Given the description of an element on the screen output the (x, y) to click on. 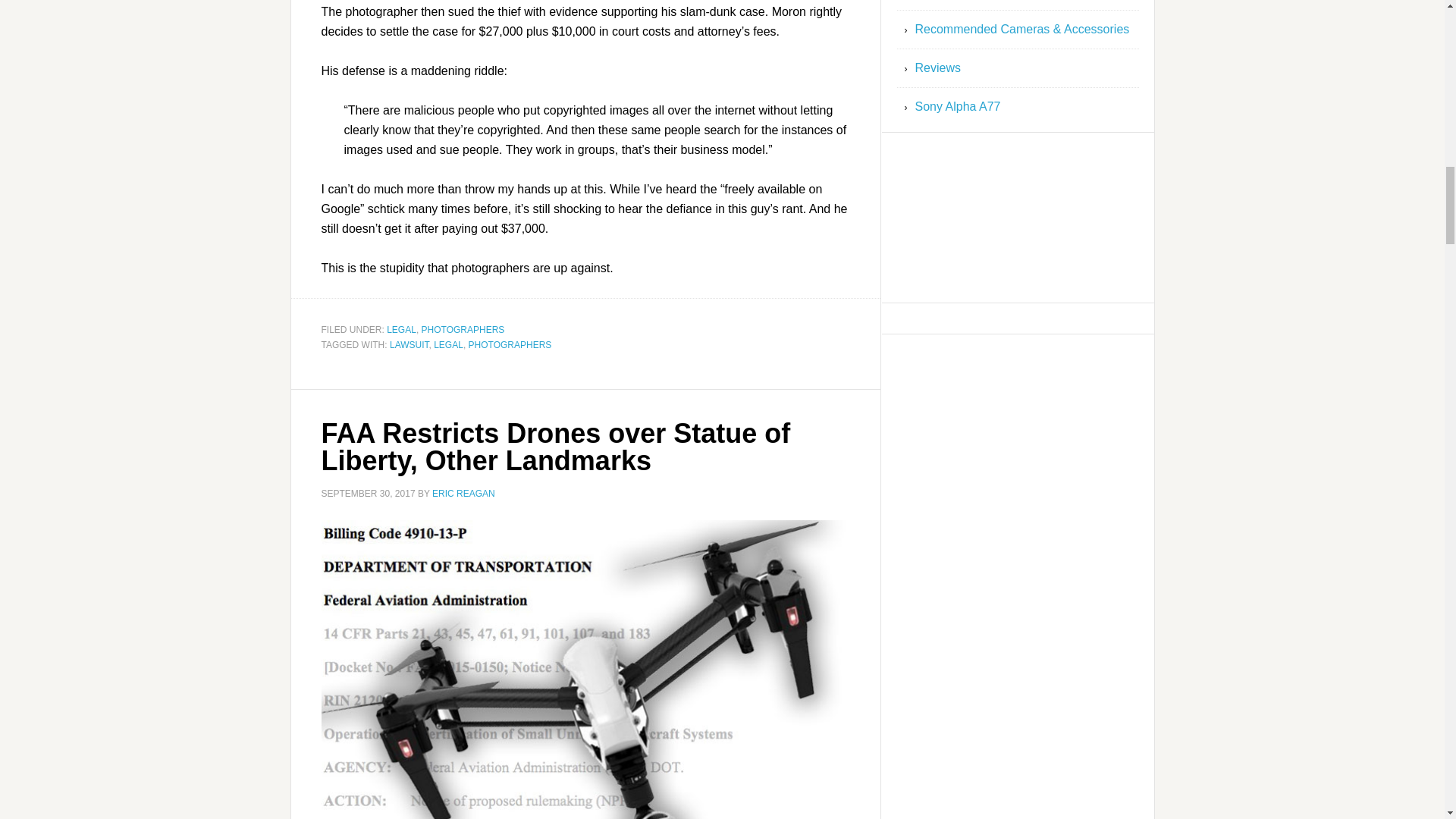
ERIC REAGAN (463, 493)
LEGAL (448, 344)
LAWSUIT (409, 344)
LEGAL (401, 329)
FAA Restricts Drones over Statue of Liberty, Other Landmarks (555, 446)
PHOTOGRAPHERS (509, 344)
PHOTOGRAPHERS (463, 329)
